Given the description of an element on the screen output the (x, y) to click on. 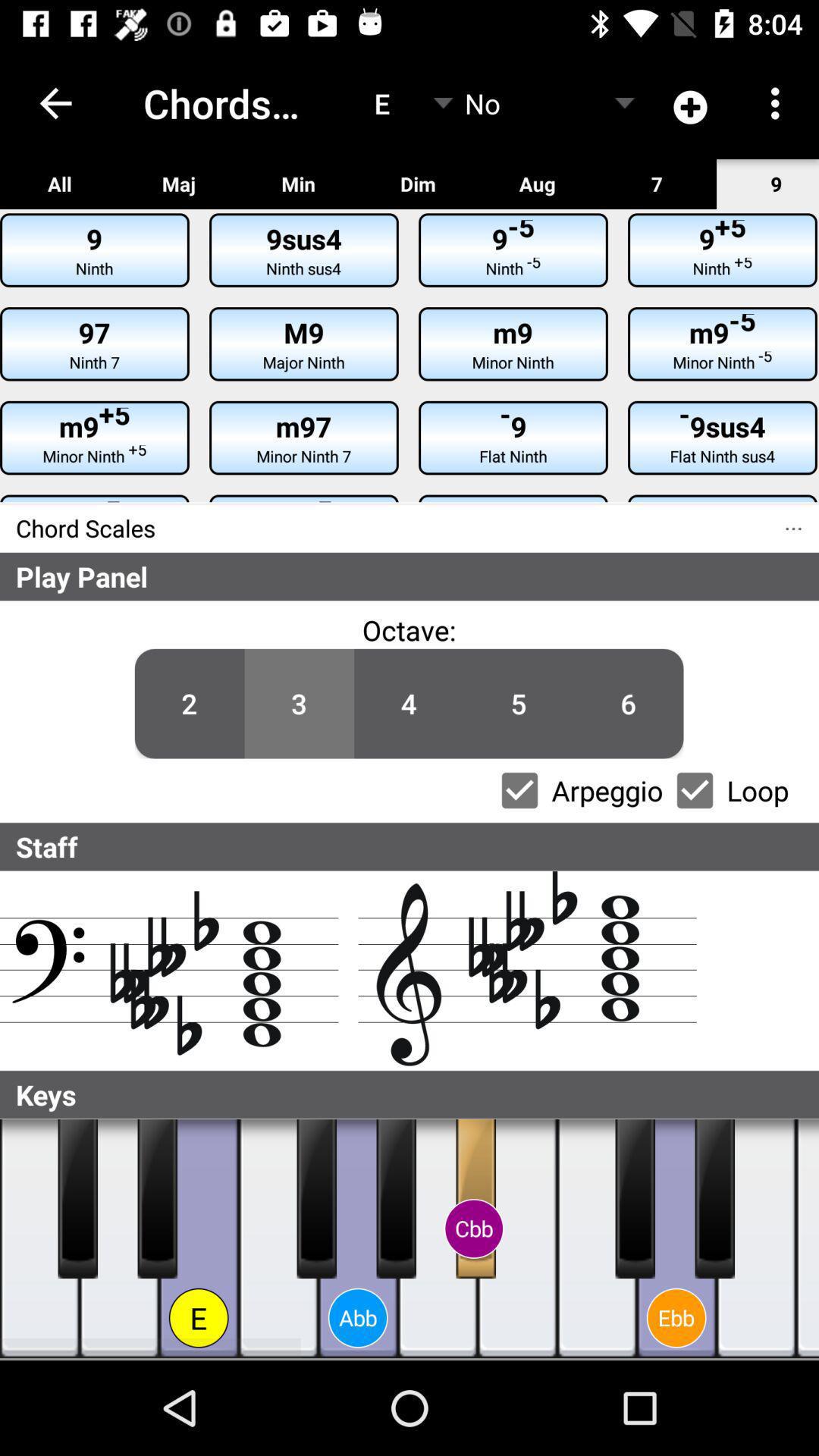
press the key (396, 1198)
